Given the description of an element on the screen output the (x, y) to click on. 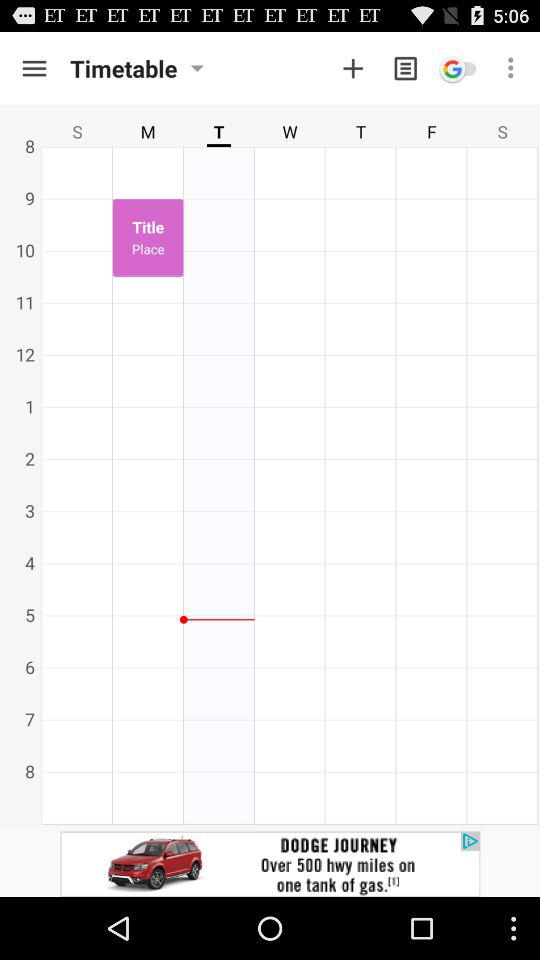
go to storage (34, 68)
